Given the description of an element on the screen output the (x, y) to click on. 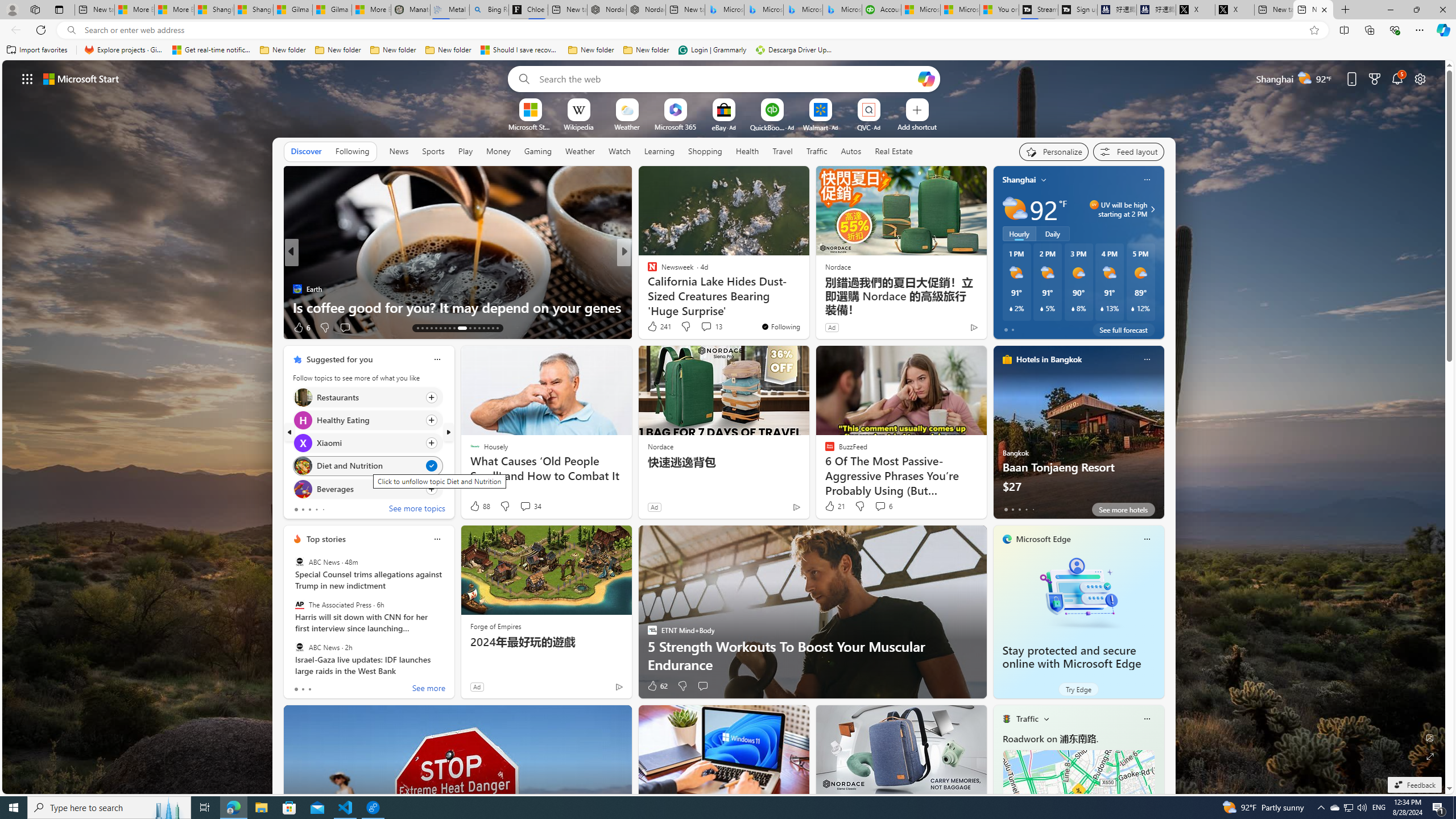
View comments 34 Comment (525, 505)
hotels-header-icon (1006, 358)
Class: weather-arrow-glyph (1152, 208)
ABC News (299, 646)
Money (498, 151)
X (1234, 9)
New Tab (1346, 9)
ETNT Mind+Body (647, 270)
See more (428, 689)
next (448, 432)
